Given the description of an element on the screen output the (x, y) to click on. 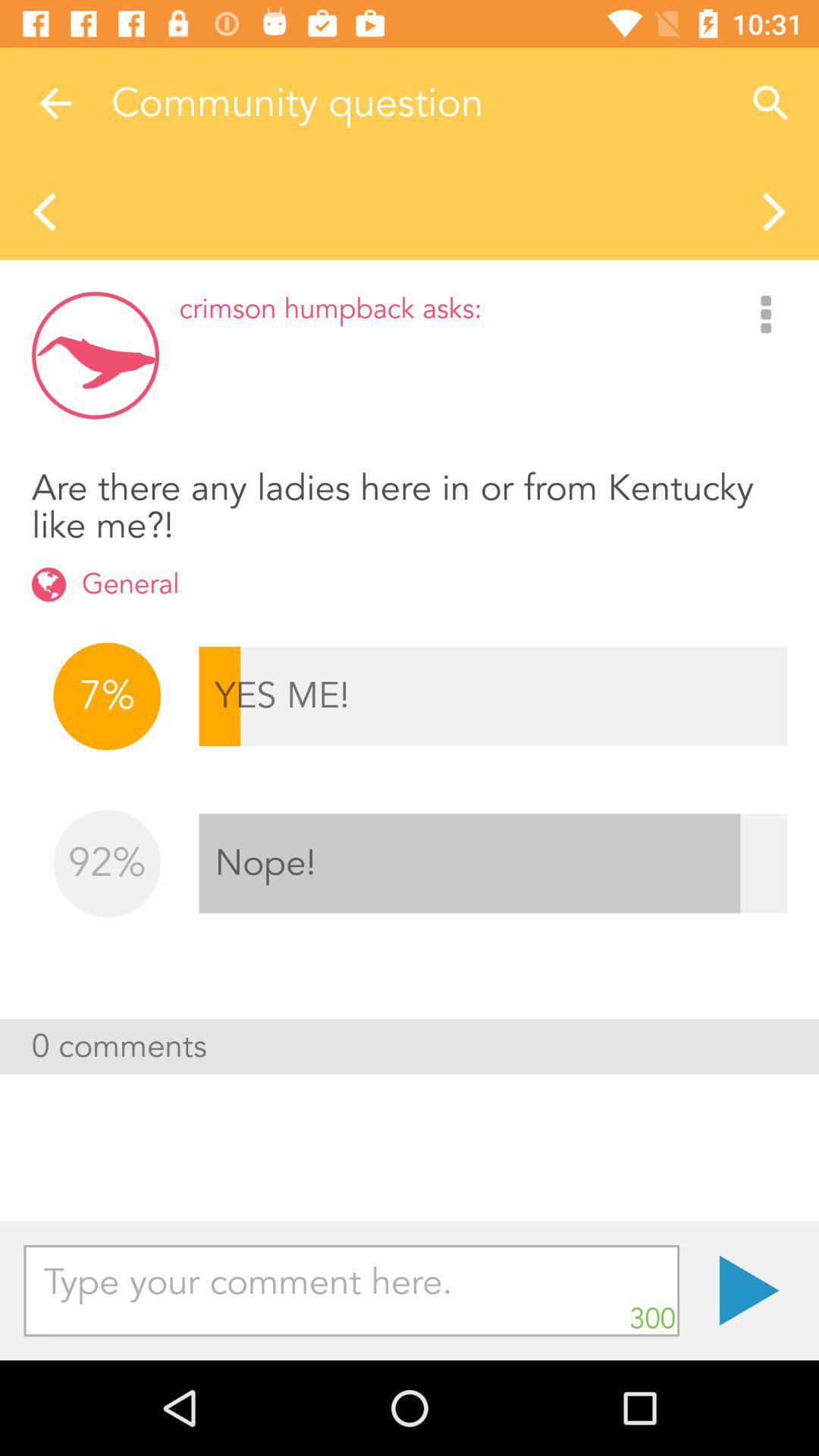
choose icon to the left of the community question icon (55, 103)
